Given the description of an element on the screen output the (x, y) to click on. 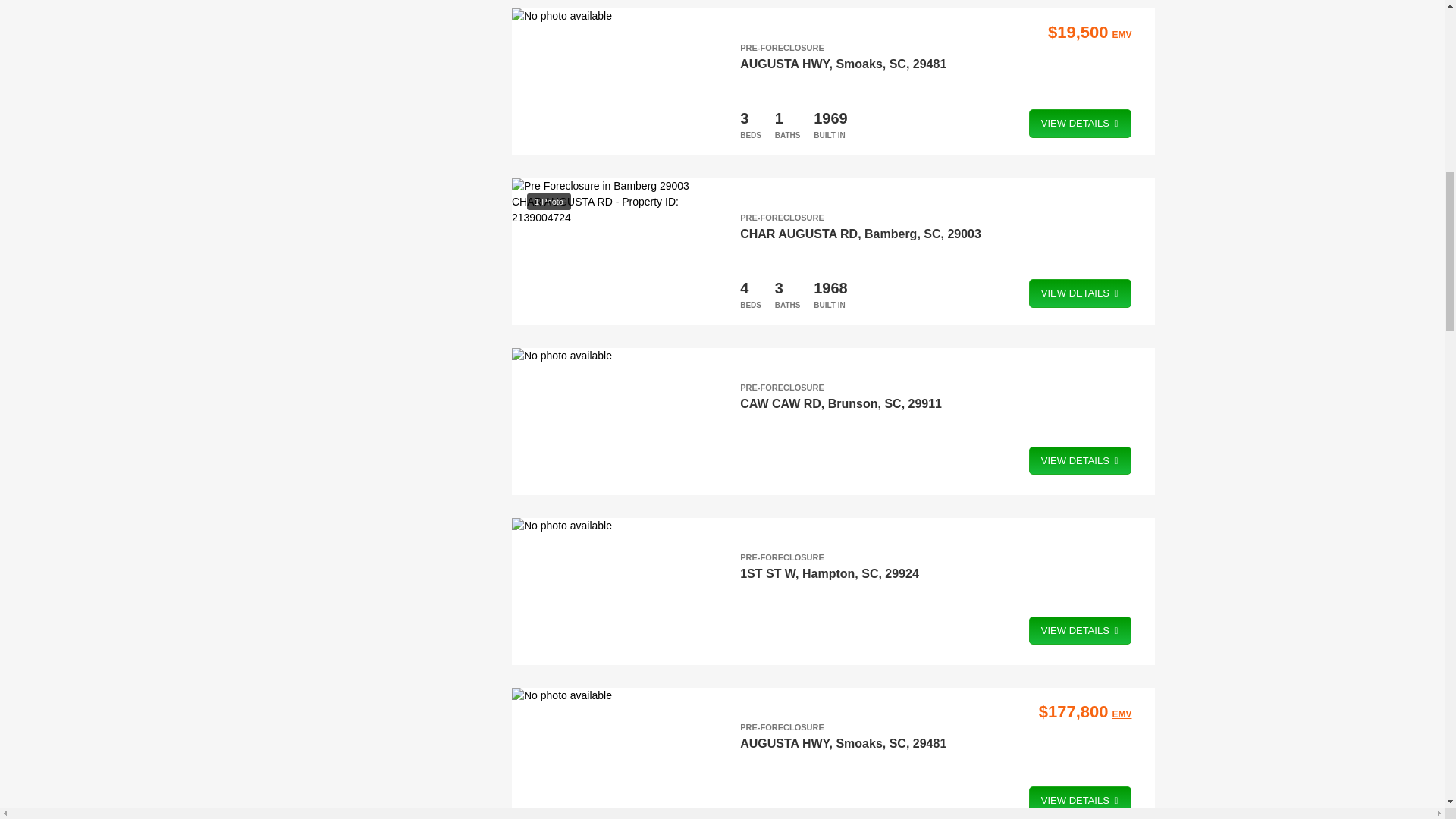
VIEW DETAILS (1080, 460)
CAW CAW RD (780, 403)
1ST ST W (766, 573)
VIEW DETAILS (1080, 123)
CHAR AUGUSTA RD (798, 233)
VIEW DETAILS (1080, 629)
1 Photo (614, 201)
VIEW DETAILS (1080, 799)
VIEW DETAILS (1080, 293)
AUGUSTA HWY (783, 63)
